Given the description of an element on the screen output the (x, y) to click on. 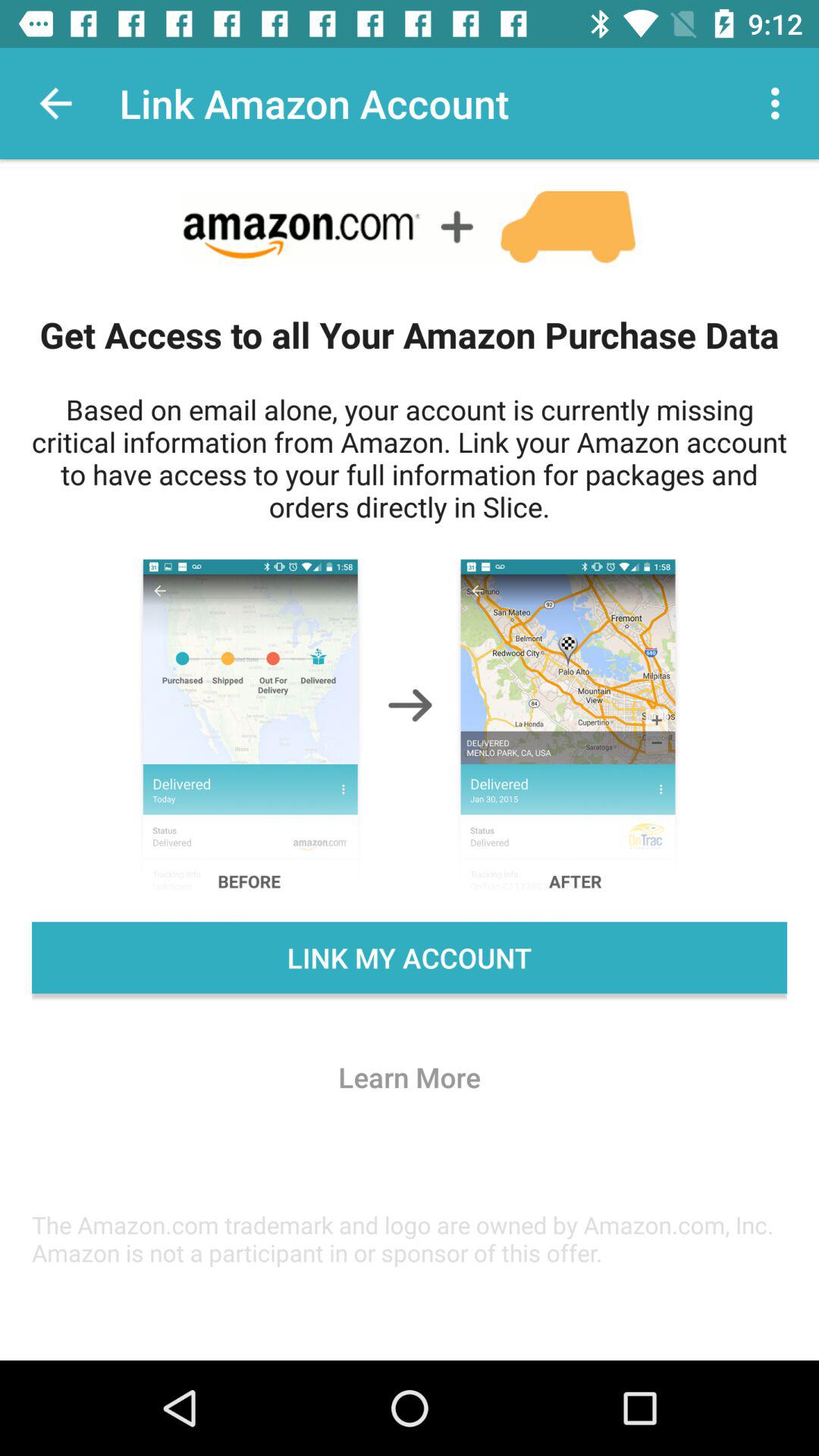
turn on the icon next to the link amazon account app (55, 103)
